Given the description of an element on the screen output the (x, y) to click on. 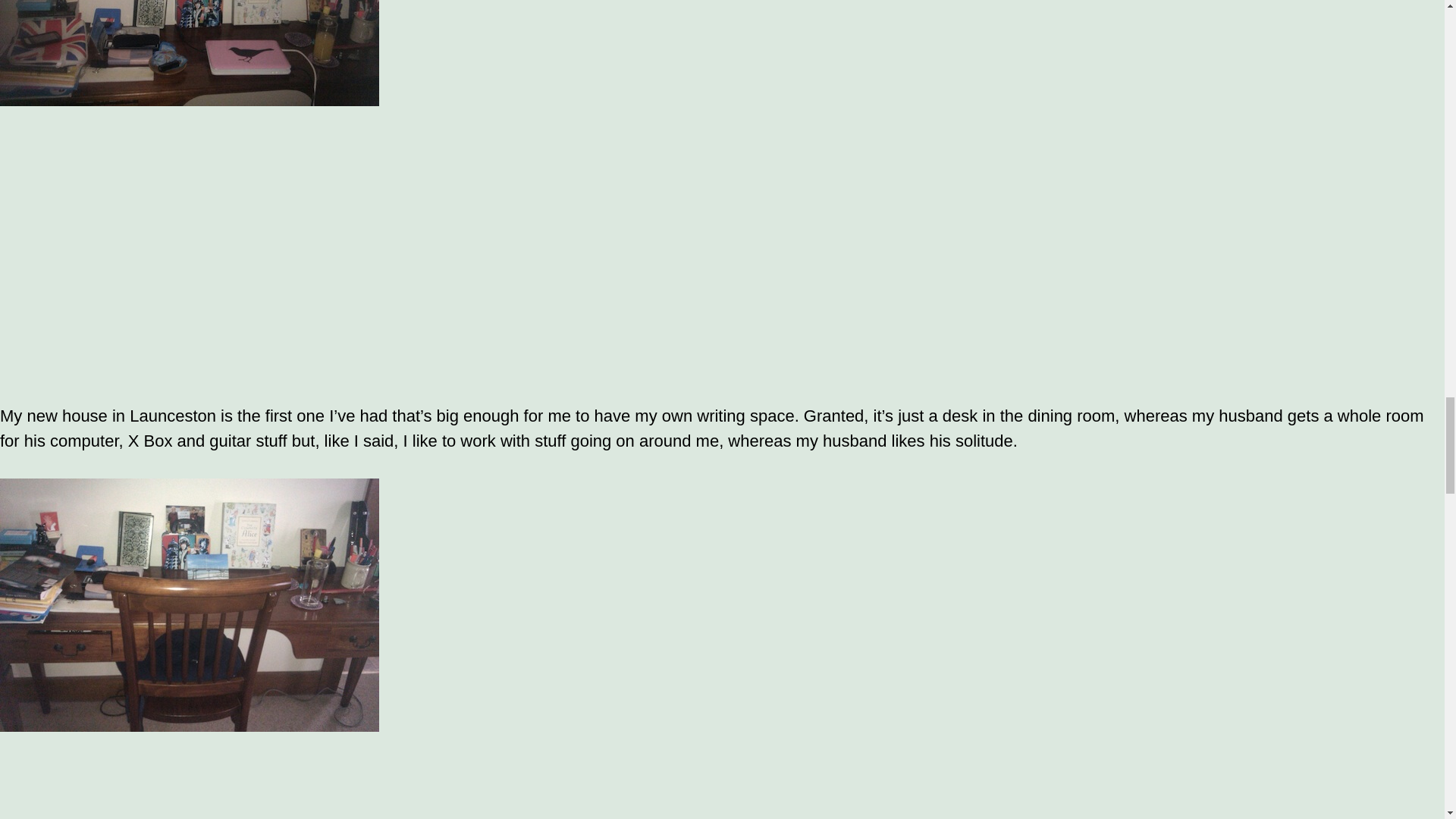
15 Kate's room (189, 605)
15 kate's room 1 (189, 53)
